Given the description of an element on the screen output the (x, y) to click on. 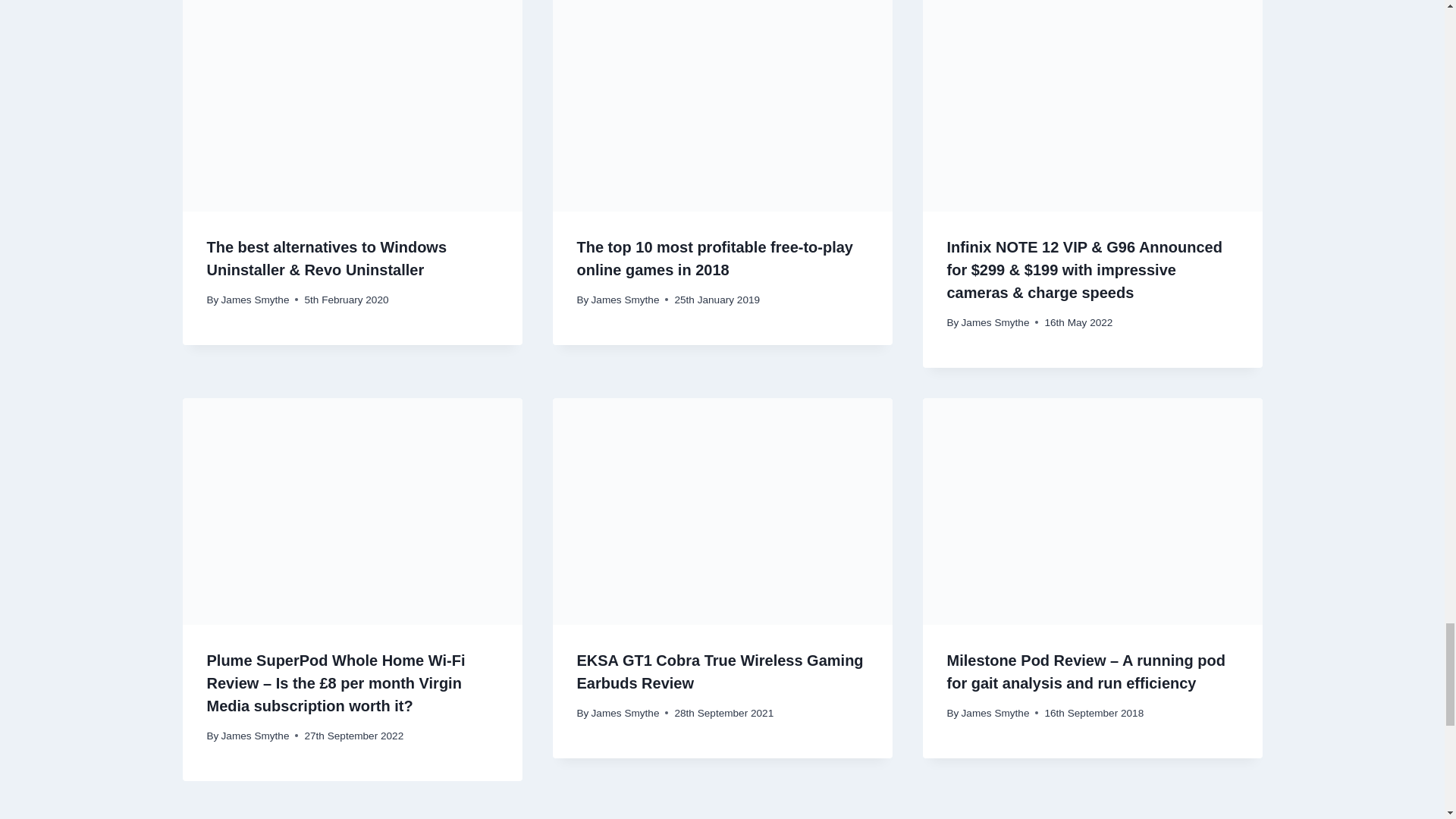
James Smythe (255, 299)
